Given the description of an element on the screen output the (x, y) to click on. 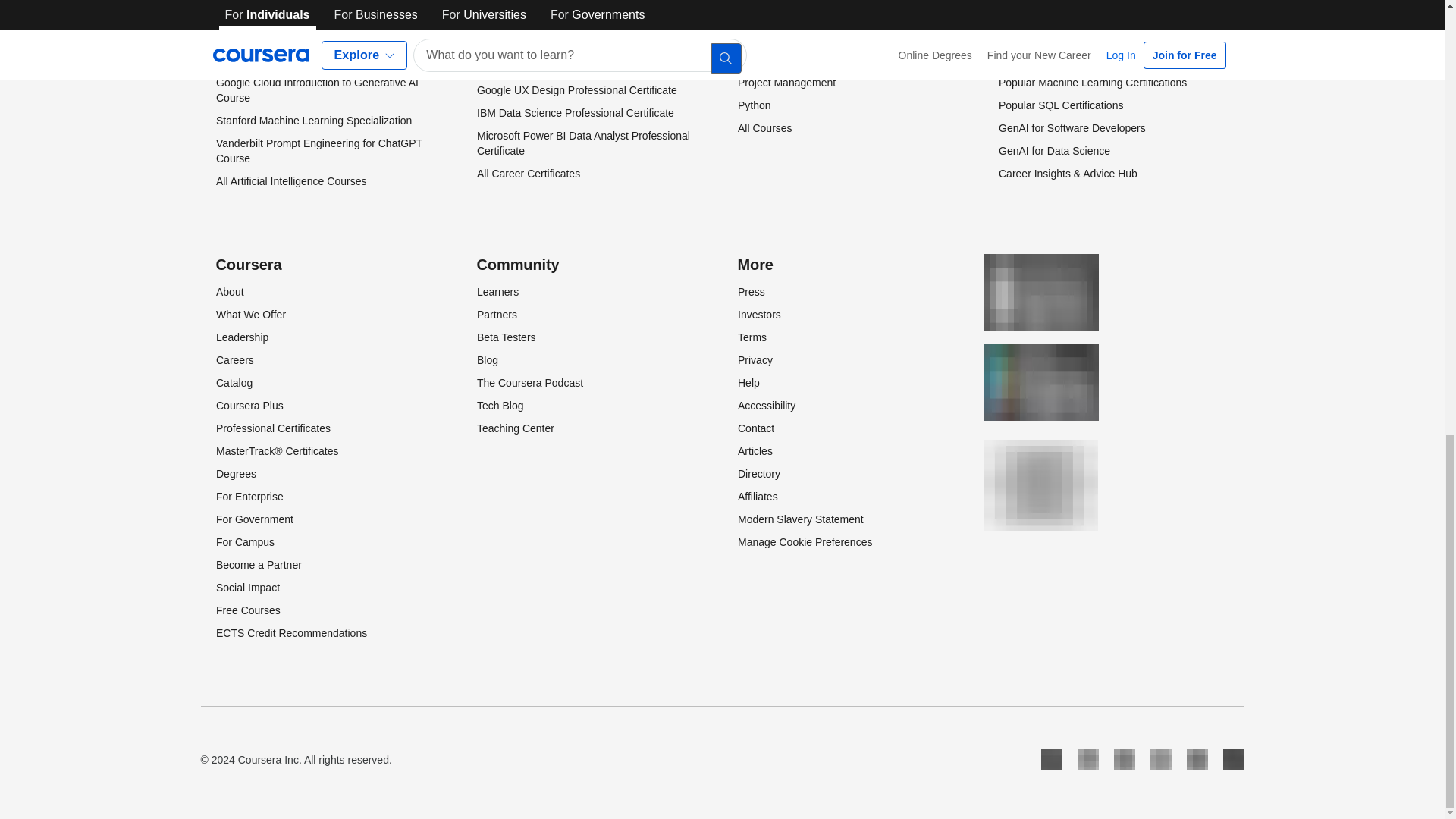
Google Cloud Introduction to Generative AI Course (316, 90)
DLAI GenAI with LLMs Course (287, 37)
IBM Data Science Professional Certificate (574, 112)
Google UX Design Professional Certificate (576, 90)
All Artificial Intelligence Courses (290, 181)
Google Project Management Professional Certificate (574, 59)
Google AI Essentials (264, 60)
DLAI GenAI For Everyone Course (295, 14)
Vanderbilt Prompt Engineering for ChatGPT Course (318, 150)
Google Digital Marketing Professional Certificate (564, 22)
Stanford Machine Learning Specialization (312, 120)
